Given the description of an element on the screen output the (x, y) to click on. 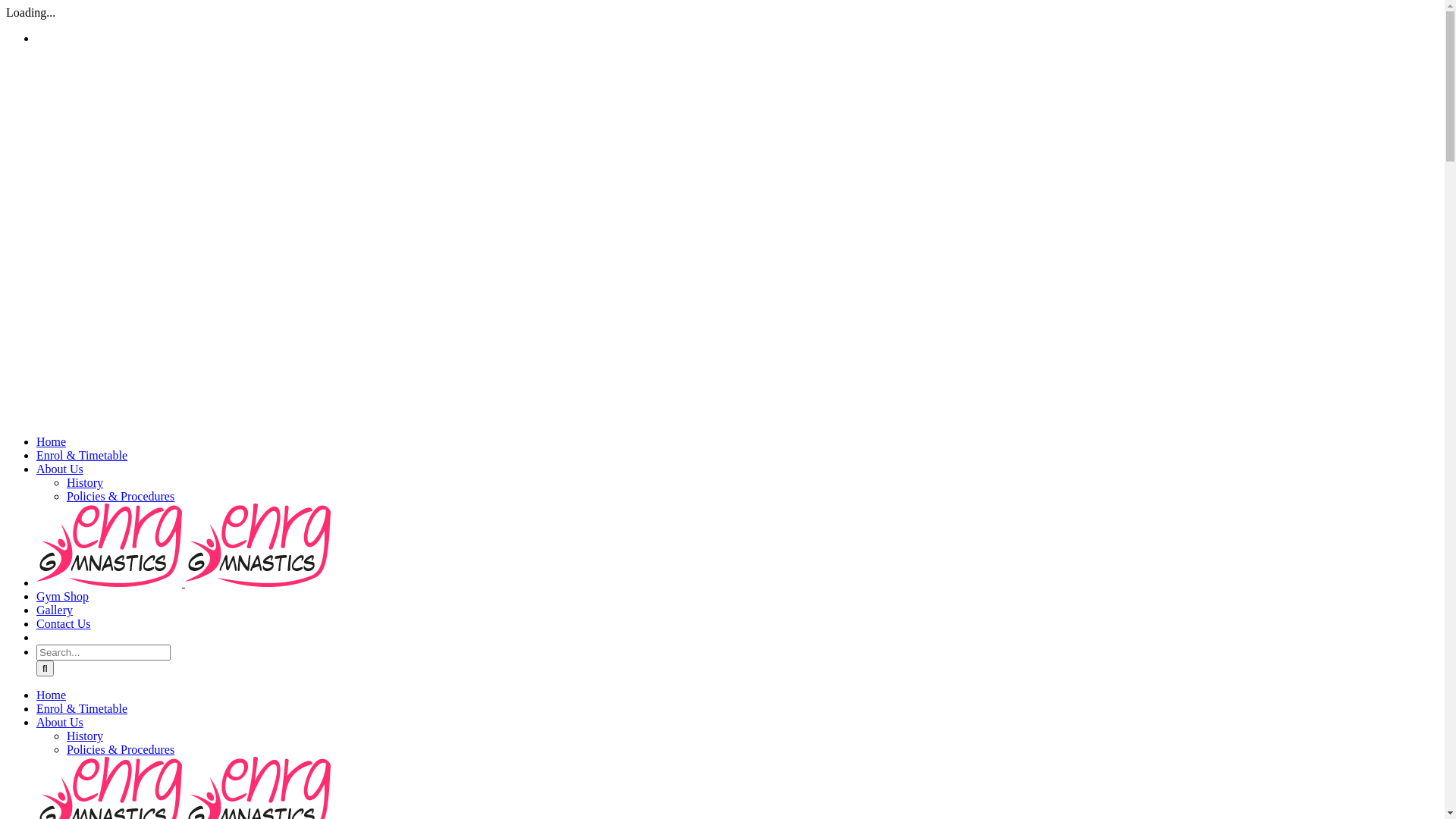
Contact Us Element type: text (63, 623)
Gallery Element type: text (54, 609)
History Element type: text (84, 735)
Home Element type: text (50, 441)
History Element type: text (84, 482)
Skip to content Element type: text (5, 5)
Policies & Procedures Element type: text (120, 749)
Enrol & Timetable Element type: text (81, 454)
Home Element type: text (50, 694)
Enrol & Timetable Element type: text (81, 708)
About Us Element type: text (59, 721)
About Us Element type: text (59, 468)
Policies & Procedures Element type: text (120, 495)
Gym Shop Element type: text (62, 595)
